Given the description of an element on the screen output the (x, y) to click on. 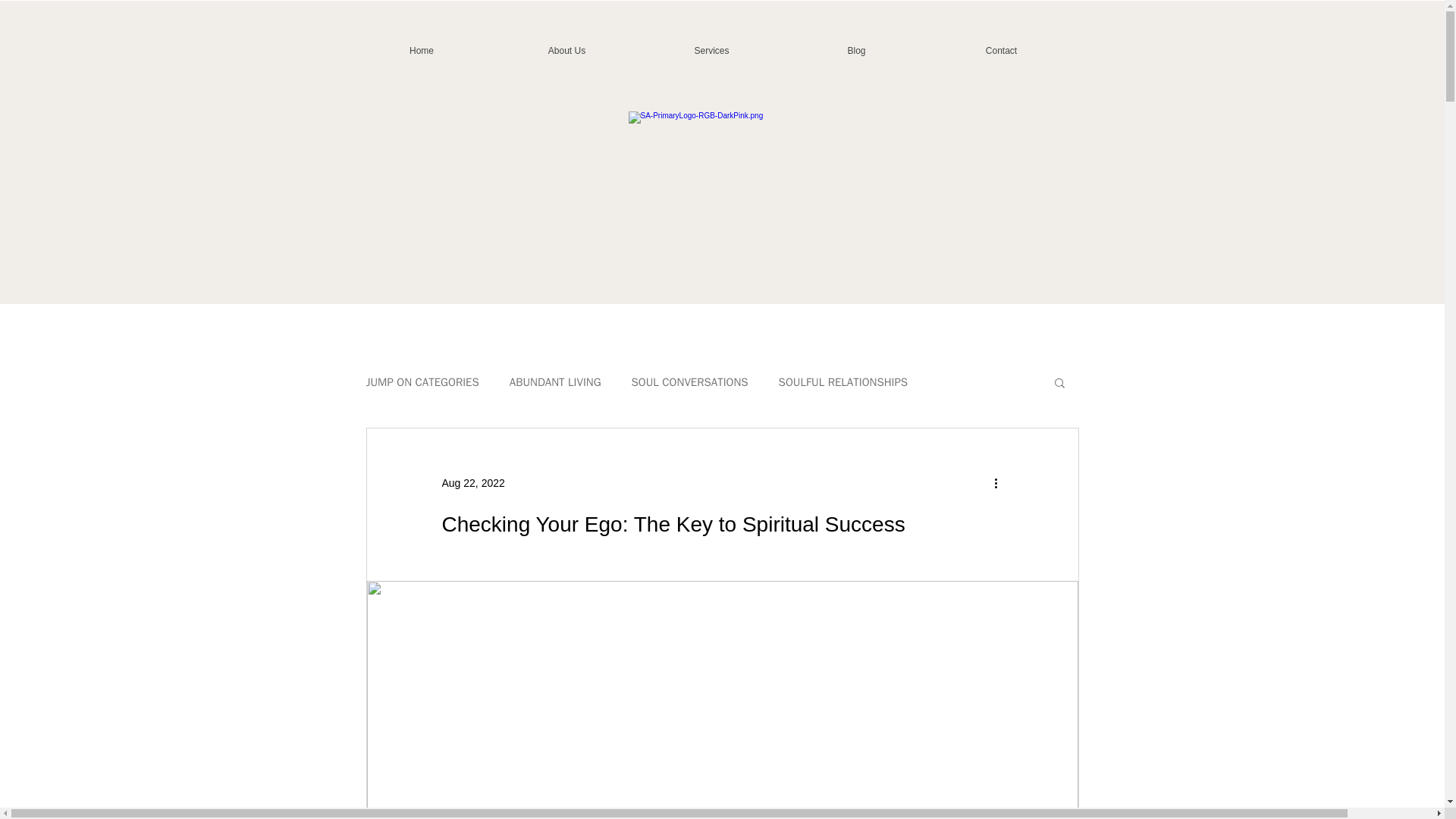
SOUL CONVERSATIONS (689, 381)
Services (712, 50)
guy4.jpg (711, 161)
Aug 22, 2022 (472, 481)
SOULFUL RELATIONSHIPS (843, 381)
ABUNDANT LIVING (555, 381)
Home (421, 50)
About Us (567, 50)
Contact (1002, 50)
Blog (856, 50)
JUMP ON CATEGORIES (422, 381)
